Given the description of an element on the screen output the (x, y) to click on. 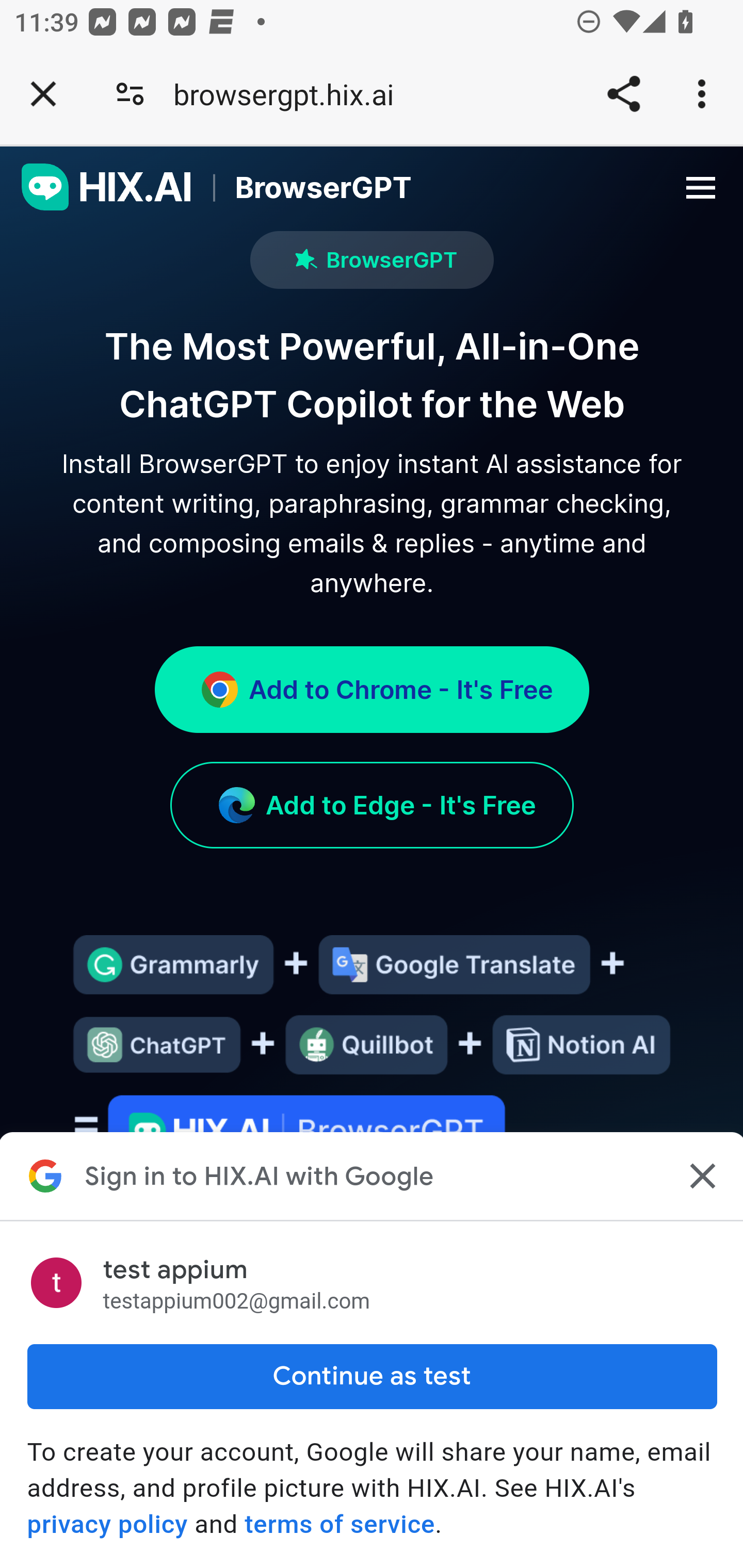
Close tab (43, 93)
Share (623, 93)
Customize and control Google Chrome (705, 93)
Connection is secure (129, 93)
browsergpt.hix.ai (290, 93)
hix (107, 188)
BrowserGPT (302, 188)
Add to Chrome - It's Free (371, 689)
Add to Edge - It's Free (371, 805)
Close (700, 1175)
Continue as test (371, 1376)
privacy policy (107, 1523)
terms of service (339, 1523)
